Given the description of an element on the screen output the (x, y) to click on. 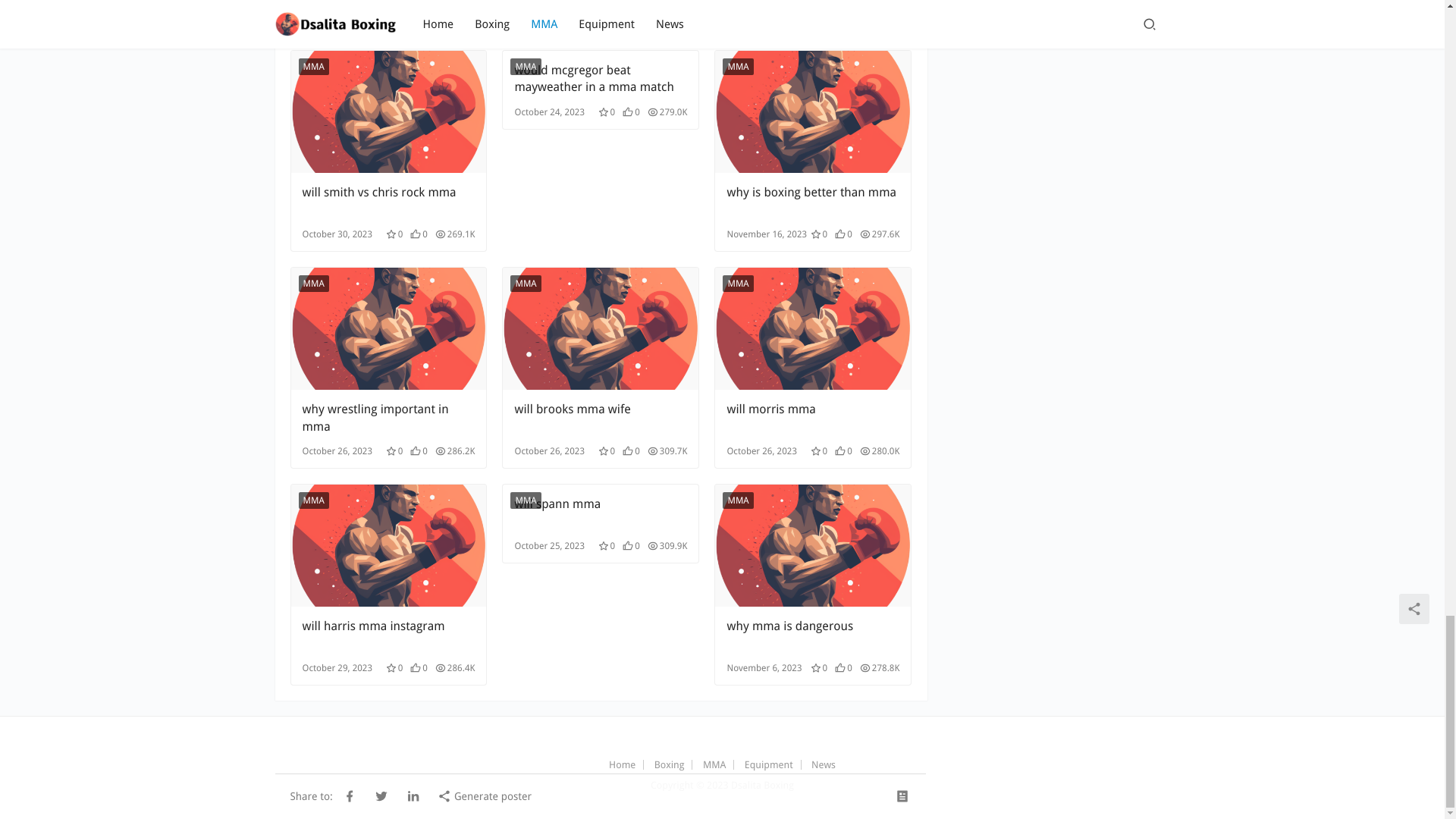
would mcgregor beat mayweather in a mma match (600, 78)
why wrestling important in mma (388, 328)
MMA (525, 66)
why is boxing better than mma (812, 111)
will smith vs chris rock mma (387, 200)
why wrestling important in mma (387, 417)
will brooks mma wife (600, 328)
MMA (313, 66)
will smith vs chris rock mma (388, 111)
why is boxing better than mma (812, 200)
MMA (313, 283)
